Given the description of an element on the screen output the (x, y) to click on. 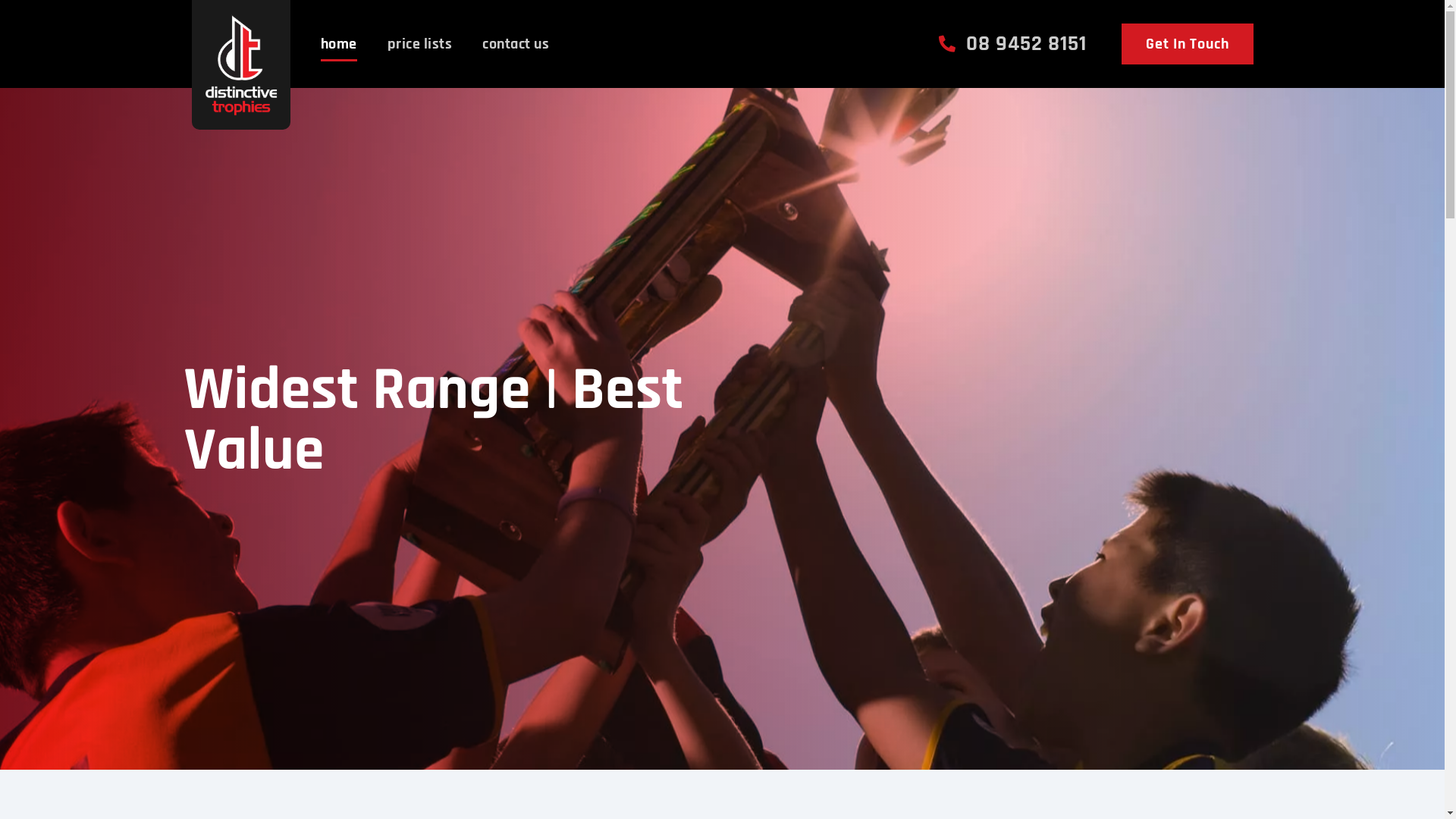
Get In Touch Element type: text (1186, 43)
08 9452 8151 Element type: text (1012, 43)
contact us Element type: text (515, 43)
price lists Element type: text (418, 43)
home Element type: text (338, 43)
